Given the description of an element on the screen output the (x, y) to click on. 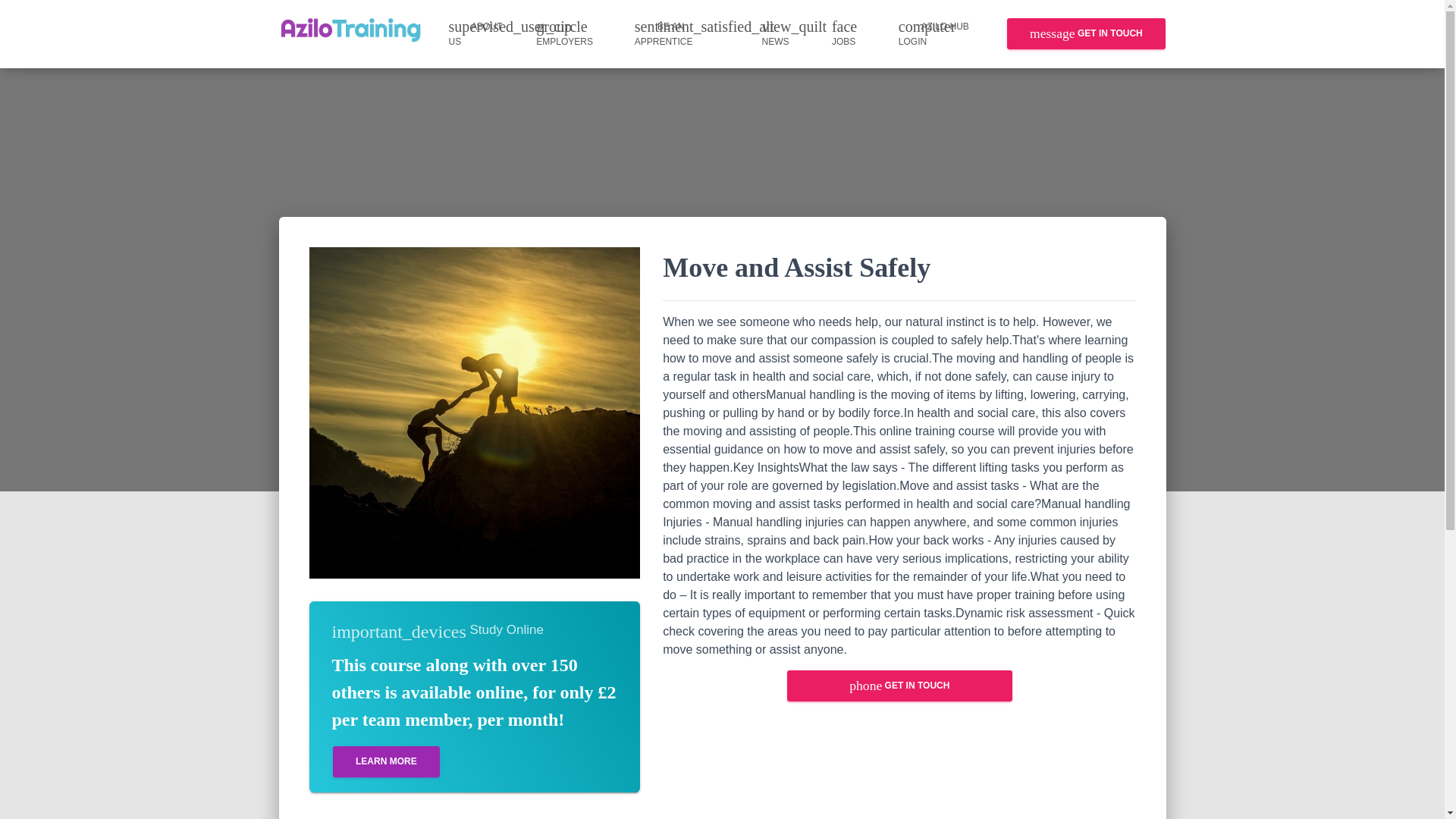
computer AZILO HUB LOGIN (946, 33)
group EMPLOYERS (573, 33)
face JOBS (853, 33)
LEARN MORE (385, 761)
